Given the description of an element on the screen output the (x, y) to click on. 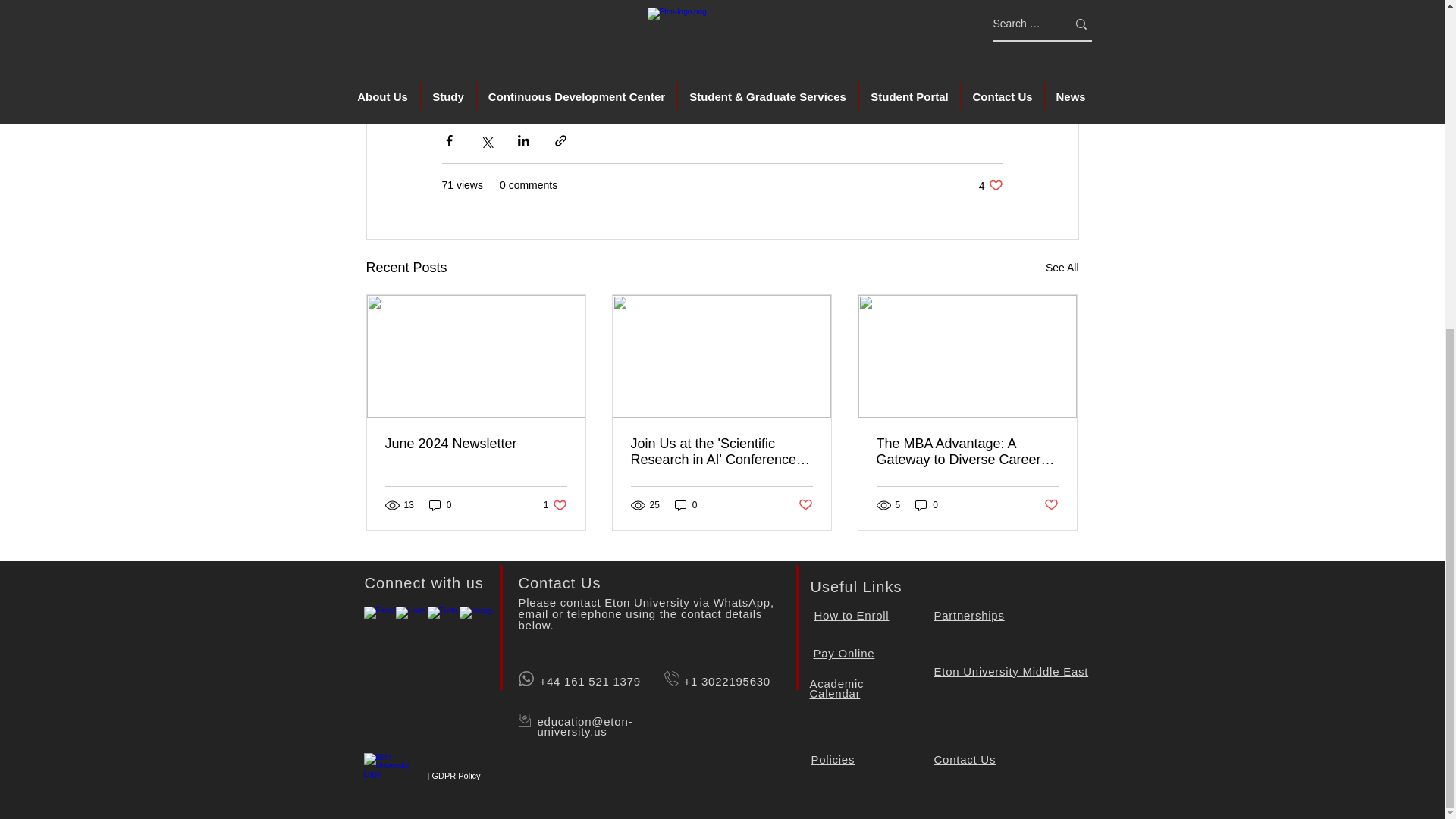
here (750, 49)
June 2024 Newsletter (476, 443)
0 (440, 504)
See All (990, 185)
